Given the description of an element on the screen output the (x, y) to click on. 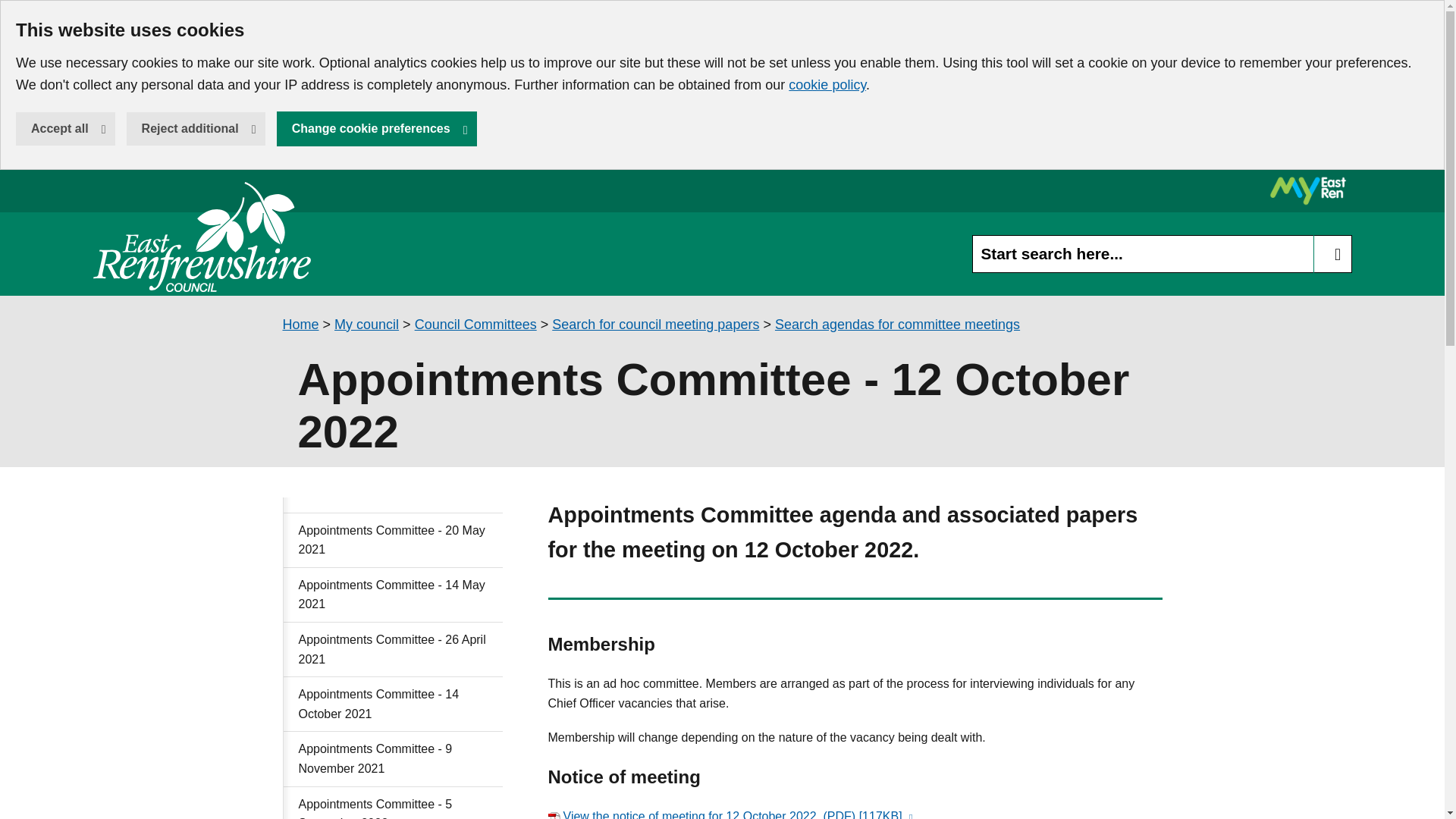
Search for council meeting papers (654, 324)
Search Site Button (1332, 253)
Change cookie preferences (376, 128)
Home (300, 324)
Search agendas for committee meetings (897, 324)
Council Committees (475, 324)
Appointments Committee - 5 September 2022 (392, 803)
Appointments Committee - 20 May 2021 (392, 540)
Reject additional (195, 128)
Appointments Committee - 14 May 2021 (392, 595)
Skip to main content (11, 11)
My council (203, 236)
Appointments Committee - 26 April 2021 (366, 324)
MyEastRen Login (392, 649)
